Given the description of an element on the screen output the (x, y) to click on. 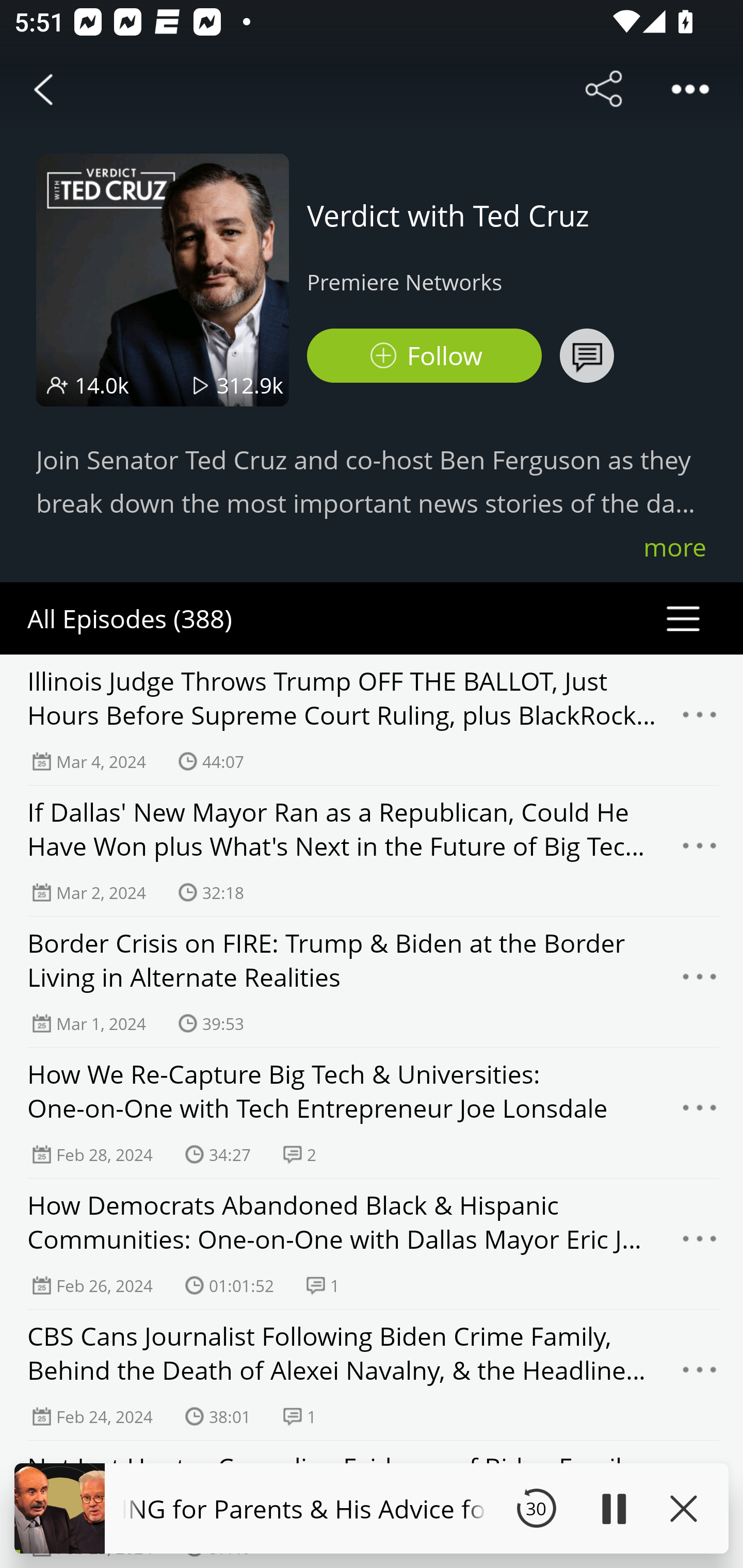
Back (43, 88)
Podbean Follow (423, 355)
14.0k (102, 384)
more (674, 546)
Menu (699, 720)
Menu (699, 850)
Menu (699, 982)
Menu (699, 1113)
Menu (699, 1244)
Menu (699, 1375)
Play (613, 1507)
30 Seek Backward (536, 1508)
